Given the description of an element on the screen output the (x, y) to click on. 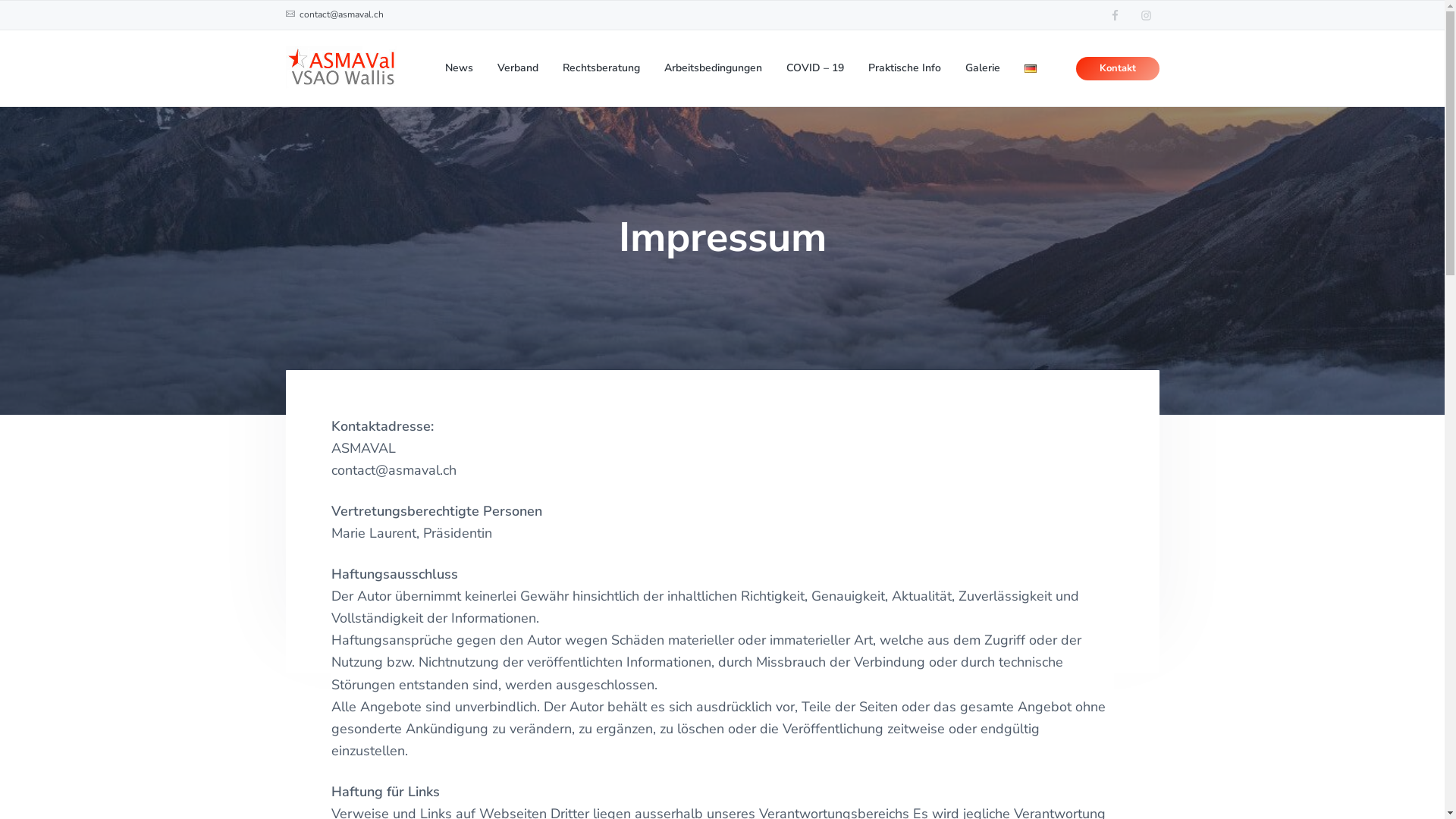
Galerie Element type: text (982, 68)
Zur Hauptnavigation springen Element type: text (0, 0)
ASMAVal Element type: text (291, 137)
Kontakt Element type: text (1117, 68)
Praktische Info Element type: text (904, 68)
Rechtsberatung Element type: text (601, 68)
contact@asmaval.ch Element type: text (340, 14)
Arbeitsbedingungen Element type: text (713, 68)
Verband Element type: text (517, 68)
News Element type: text (459, 68)
